Given the description of an element on the screen output the (x, y) to click on. 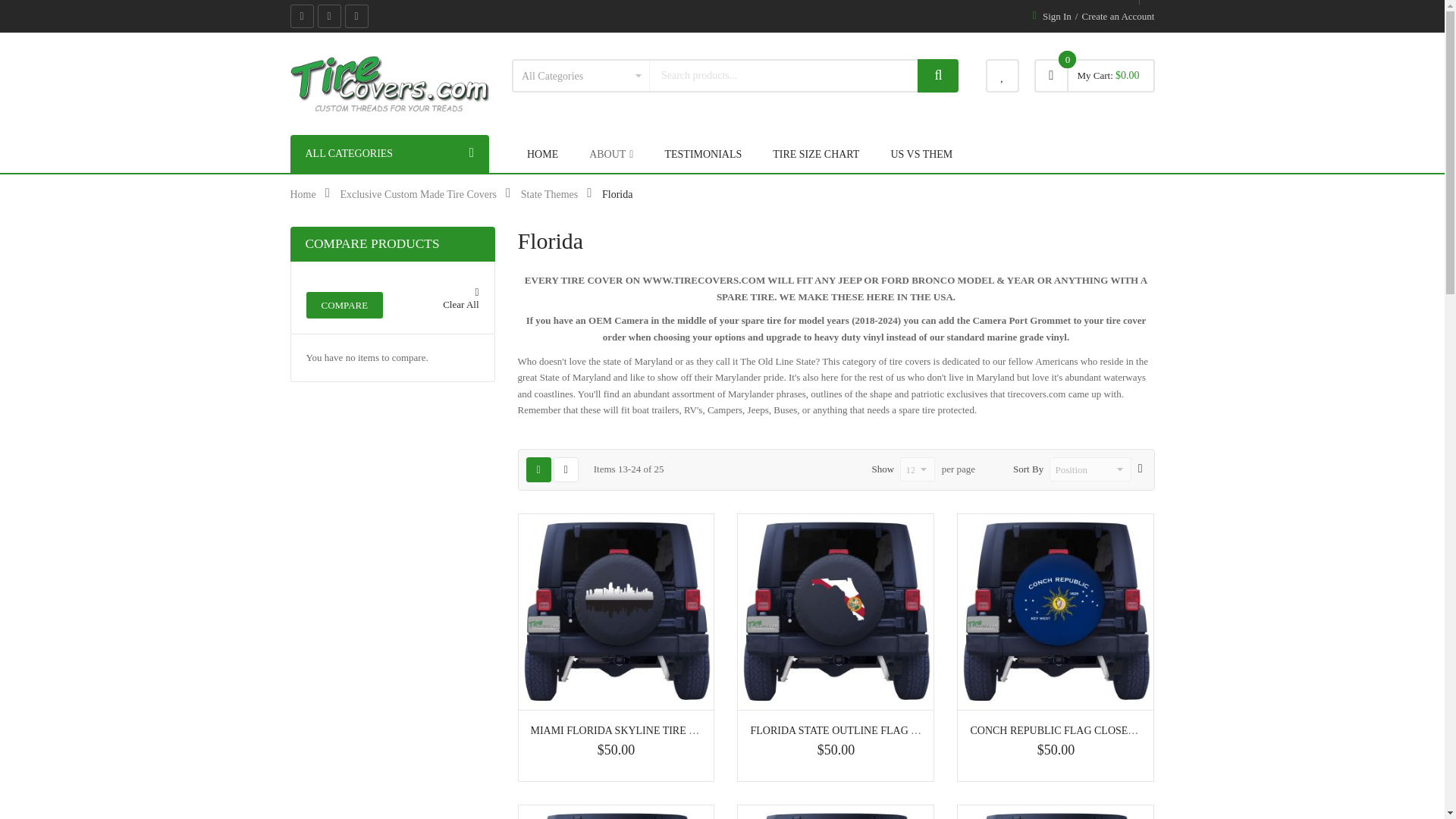
My Wishlist (1002, 75)
Sign In (1056, 16)
Create an Account (1117, 16)
Facebook (301, 15)
Go to Home Page (302, 194)
Youtube (328, 15)
Instagram (355, 15)
Grid (538, 469)
List (565, 469)
Search (937, 75)
